Given the description of an element on the screen output the (x, y) to click on. 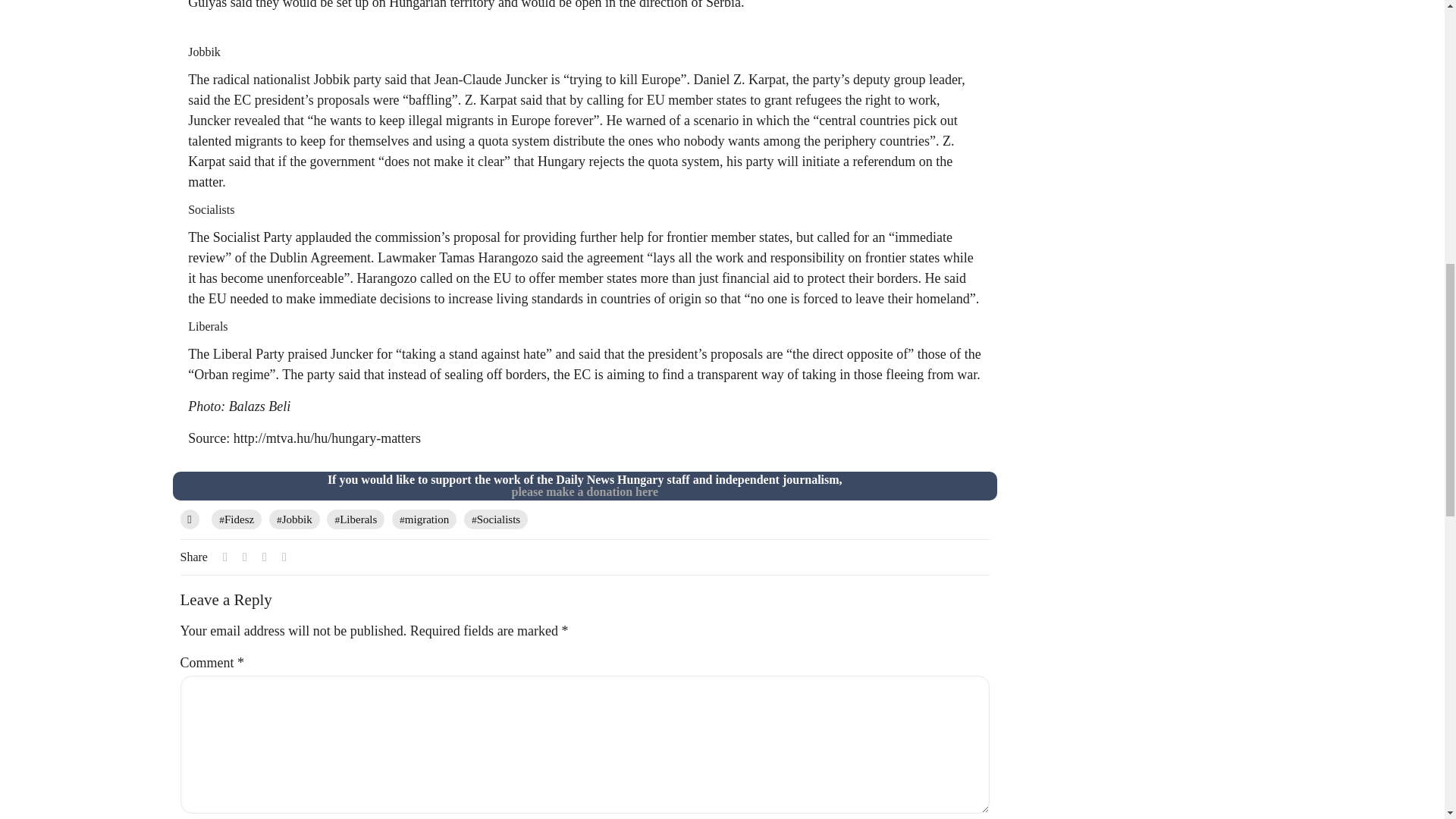
Liberals (355, 519)
Socialists (495, 519)
Fidesz (236, 519)
please make a donation here (584, 491)
migration (424, 519)
Jobbik (294, 519)
